Given the description of an element on the screen output the (x, y) to click on. 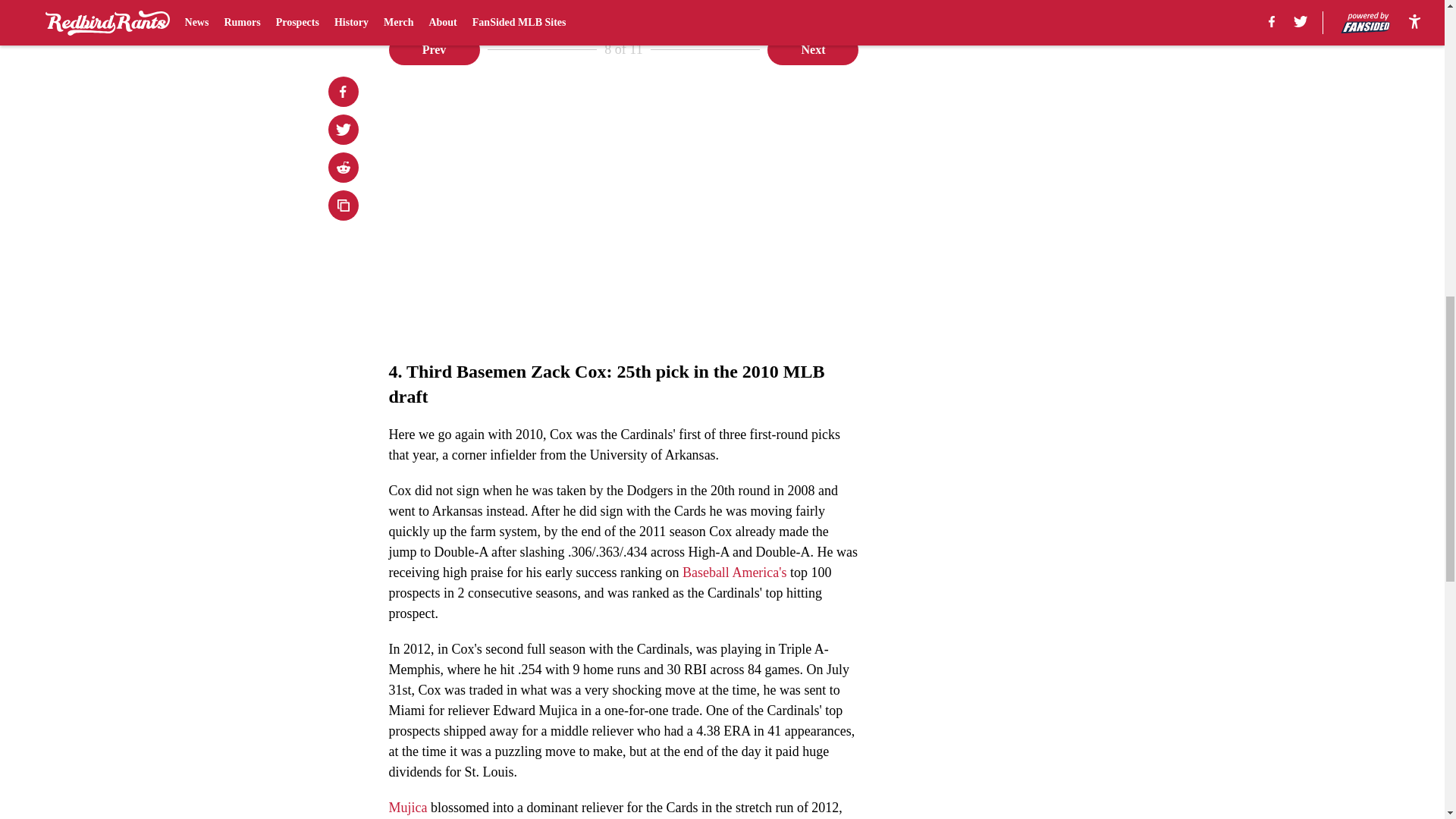
Next (813, 50)
Baseball America's (736, 572)
Mujica (407, 807)
Prev (433, 50)
